Given the description of an element on the screen output the (x, y) to click on. 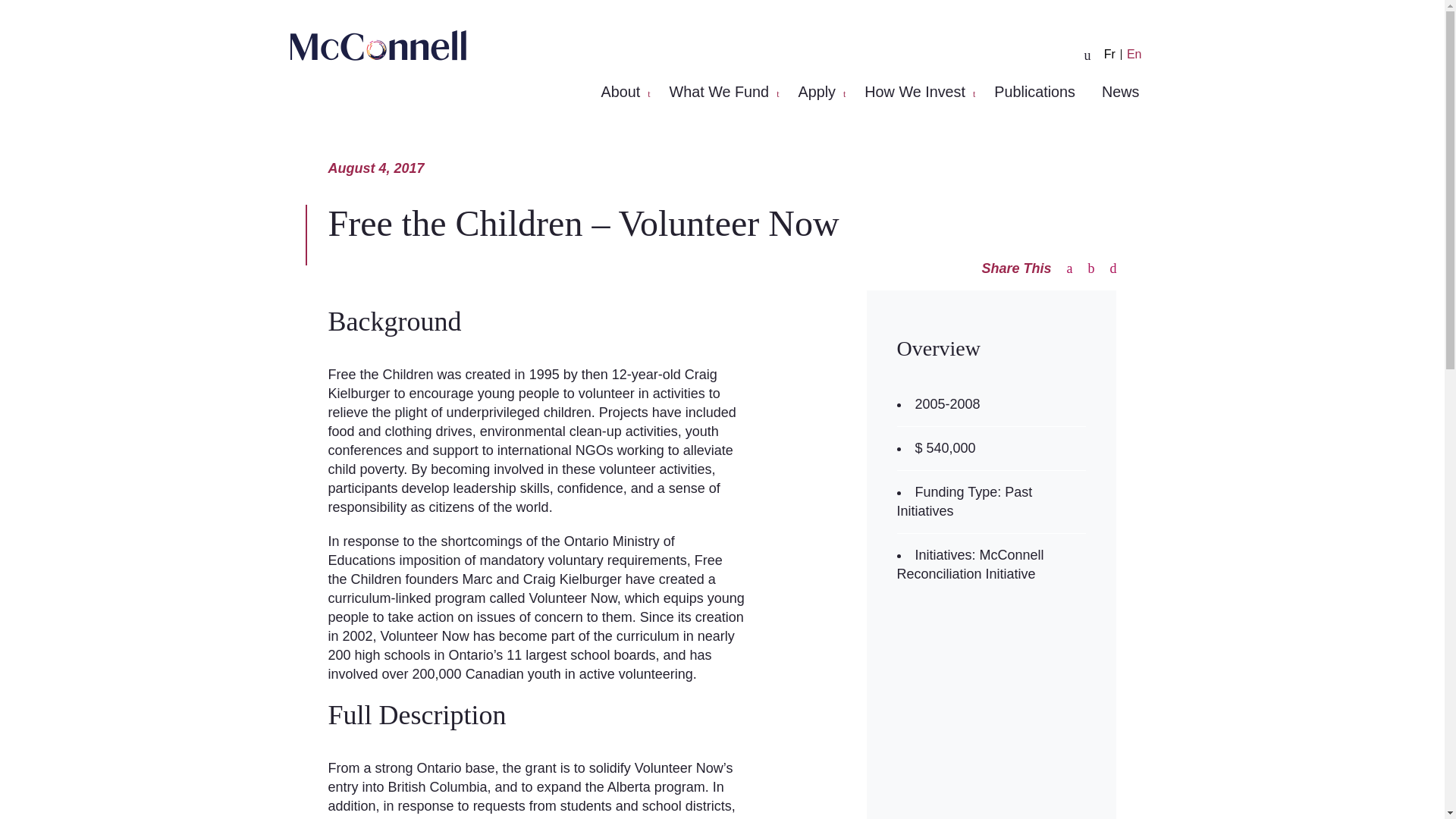
Apply (820, 91)
McConnell Foundation (377, 45)
About (623, 91)
En (1134, 54)
Fr (1110, 54)
What We Fund (723, 91)
